Given the description of an element on the screen output the (x, y) to click on. 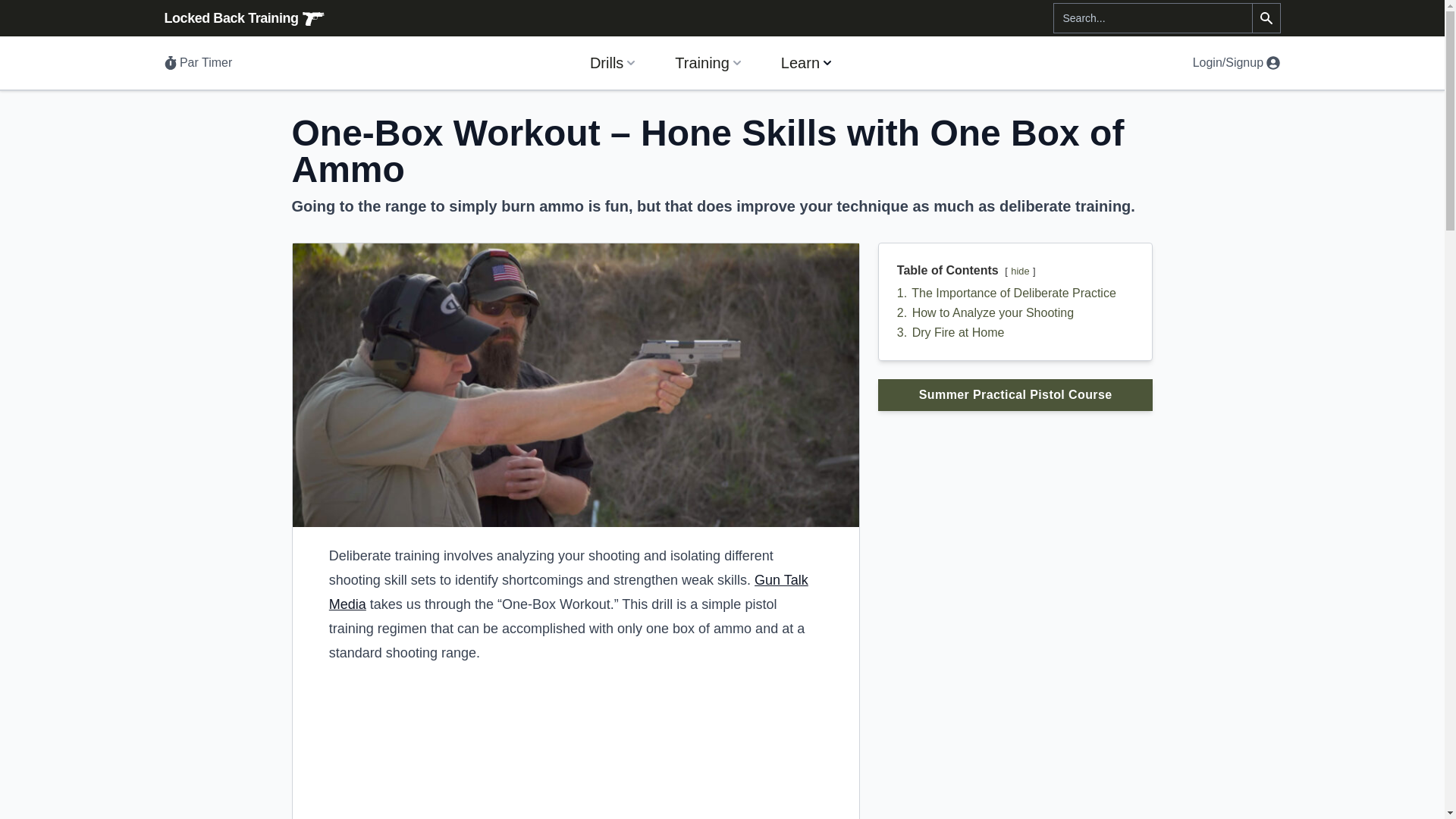
Search (1266, 18)
1. The Importance of Deliberate Practice (1006, 292)
hide (1019, 270)
Drills (614, 62)
Summer Practical Pistol Course (1015, 395)
2. How to Analyze your Shooting (985, 312)
Training (709, 62)
Gun Talk Media (568, 591)
Learn (807, 62)
Locked Back Training (256, 17)
3. Dry Fire at Home (950, 332)
 Par Timer (197, 62)
